Given the description of an element on the screen output the (x, y) to click on. 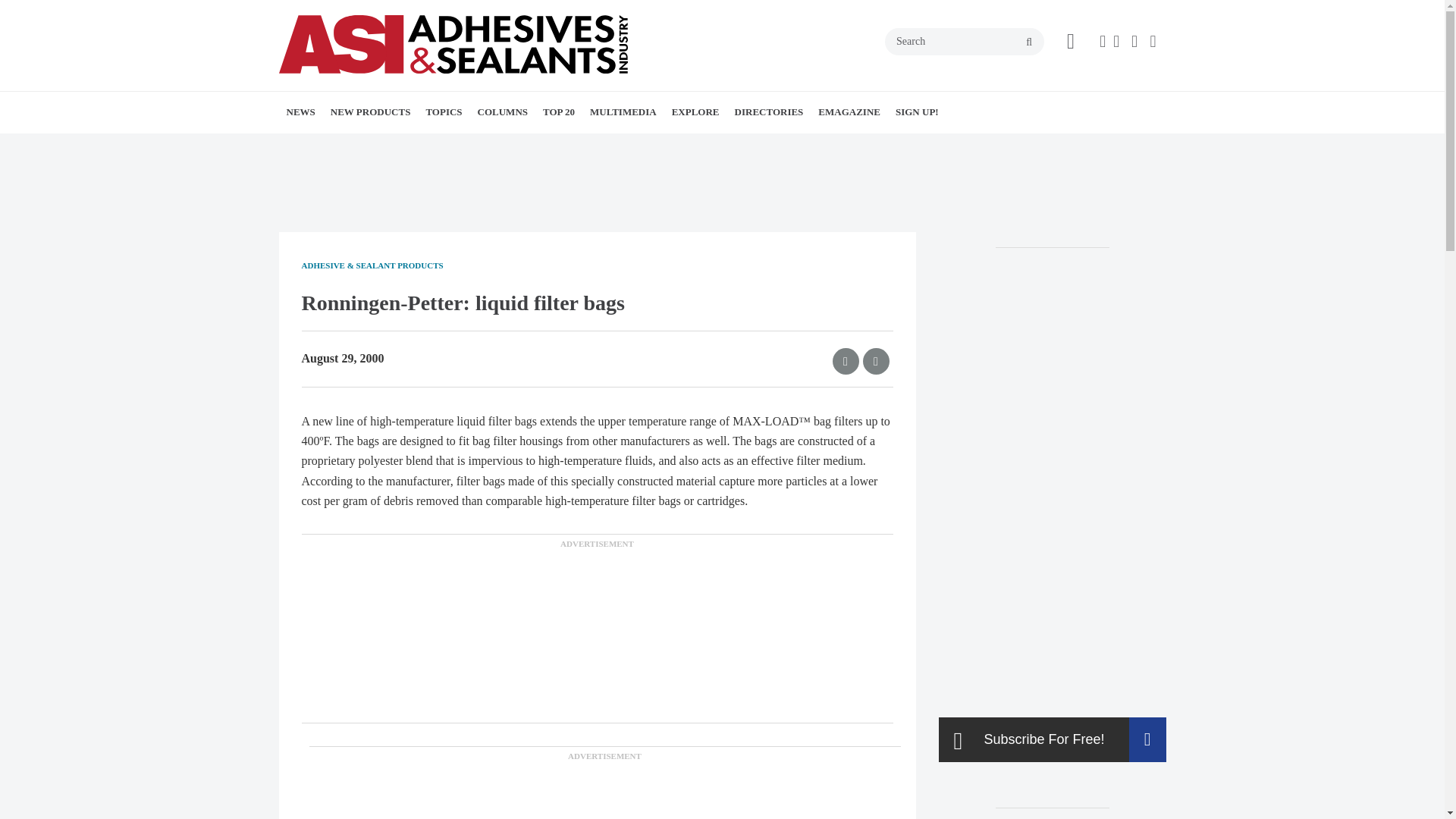
EVENTS CALENDAR (398, 145)
STRATEGIC SOLUTIONS (582, 145)
COLUMNS (502, 111)
SPECIALTY CHEMICALS INSIGHTS (577, 145)
COATINGS (533, 145)
FINISHED ADHESIVES AND SEALANTS (512, 154)
search (1029, 42)
2022 WORLD ADHESIVE AND SEALANT CONFERENCE (384, 154)
TOPICS (442, 111)
CURING (552, 145)
Search (964, 41)
NEWS (301, 111)
RAW MATERIALS AND CHEMICALS (538, 154)
NEW PRODUCTS (371, 111)
SUSTAINABILITY (564, 145)
